Given the description of an element on the screen output the (x, y) to click on. 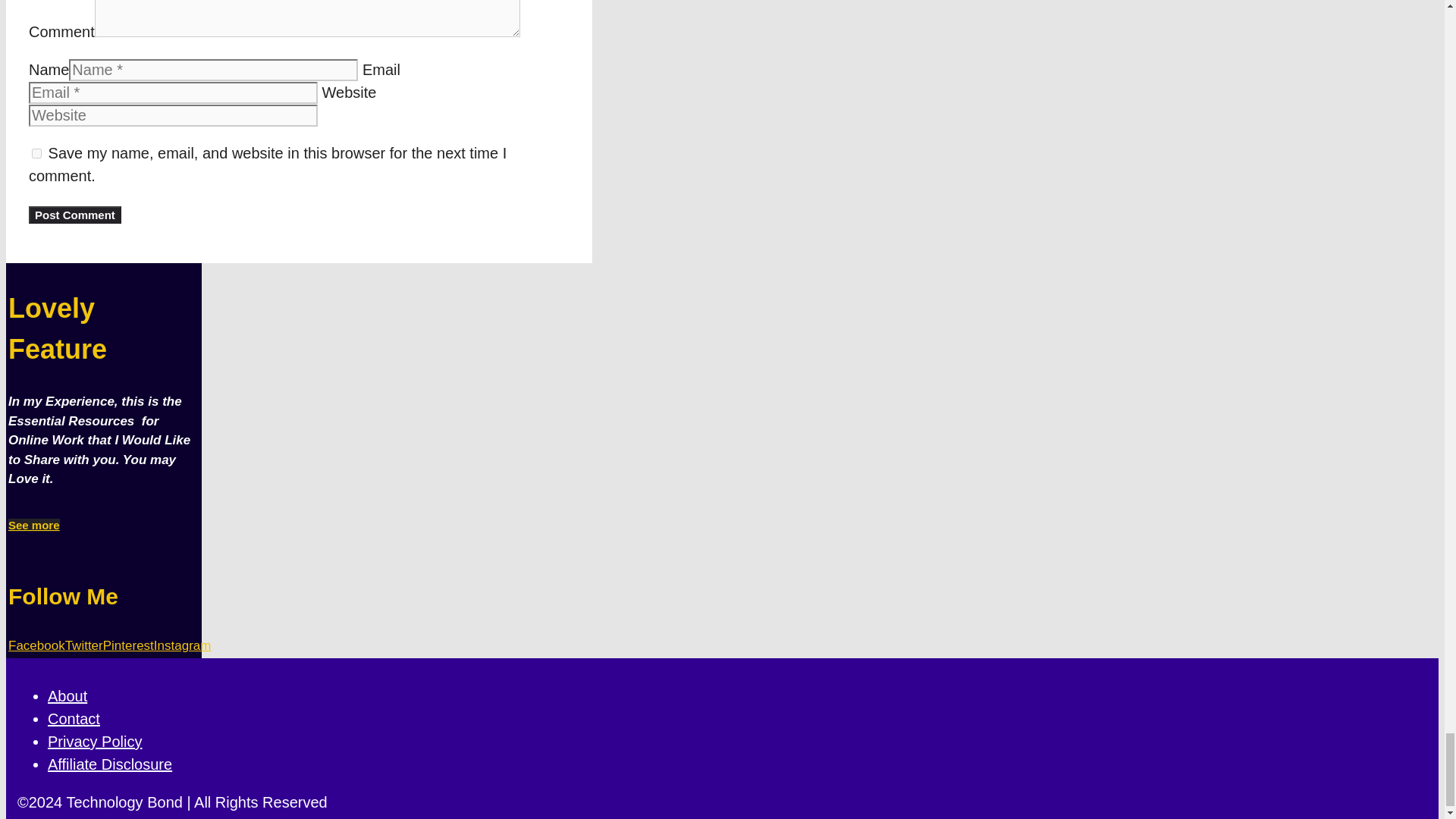
yes (37, 153)
Post Comment (74, 214)
